Given the description of an element on the screen output the (x, y) to click on. 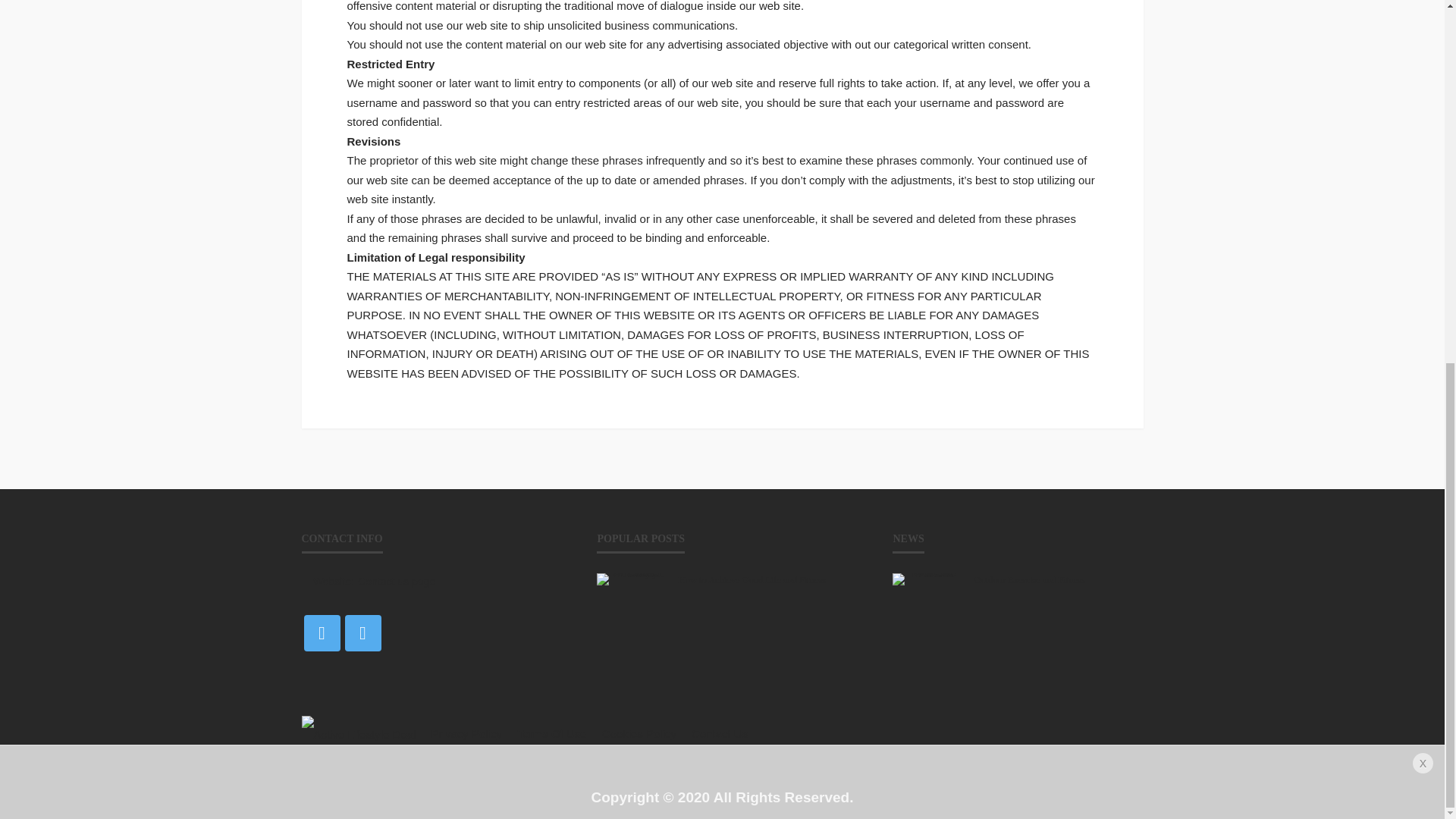
instagram (363, 632)
How to Achieve Good Life and Fitness (631, 579)
facebook (321, 632)
How to Achieve Good Life and Fitness (762, 580)
Active Lifestyle Deal (358, 733)
Outdoor Exercise and Fitness (1058, 580)
Outdoor Exercise and Fitness (927, 579)
